Given the description of an element on the screen output the (x, y) to click on. 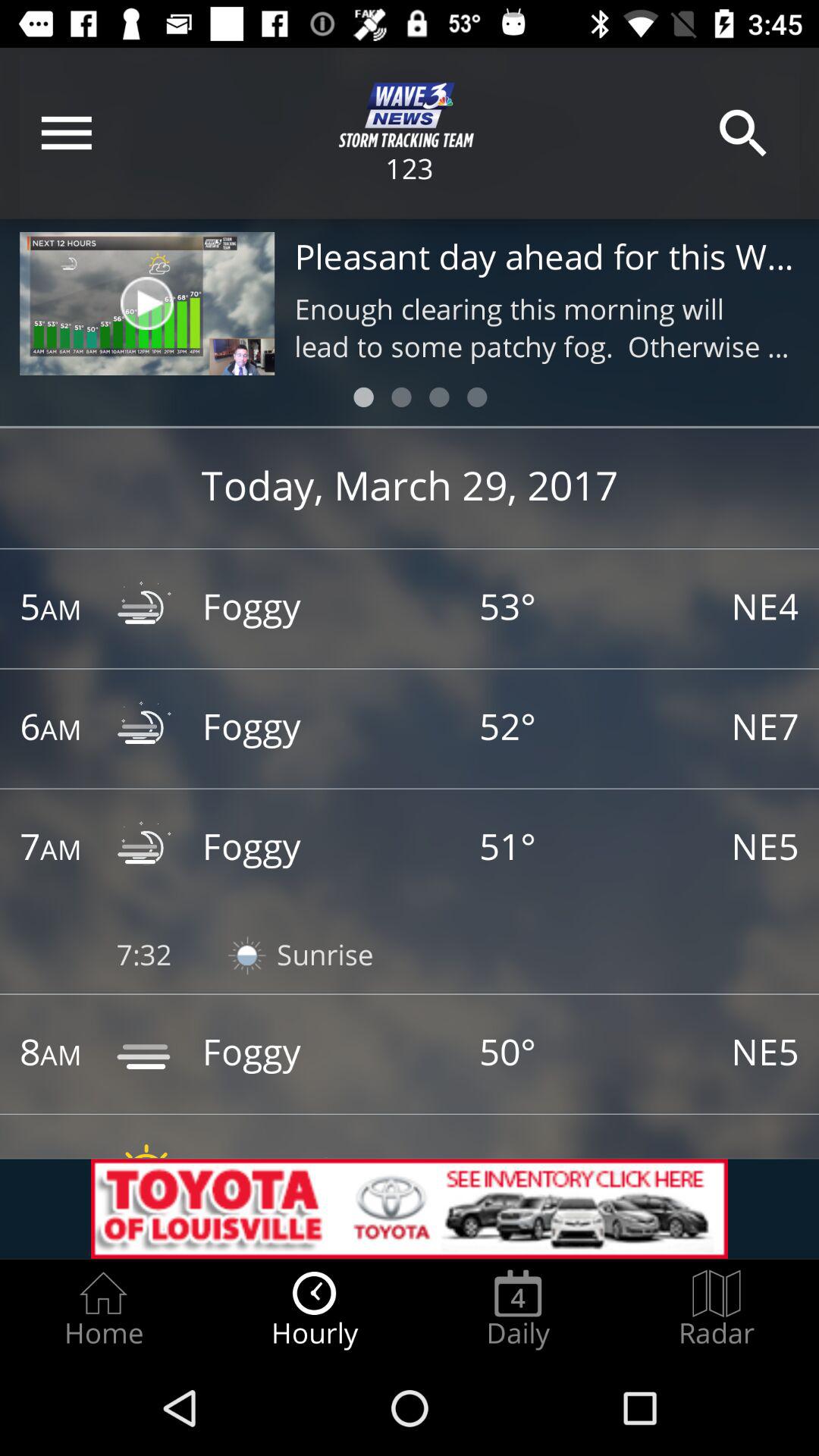
scroll to the home radio button (103, 1309)
